Given the description of an element on the screen output the (x, y) to click on. 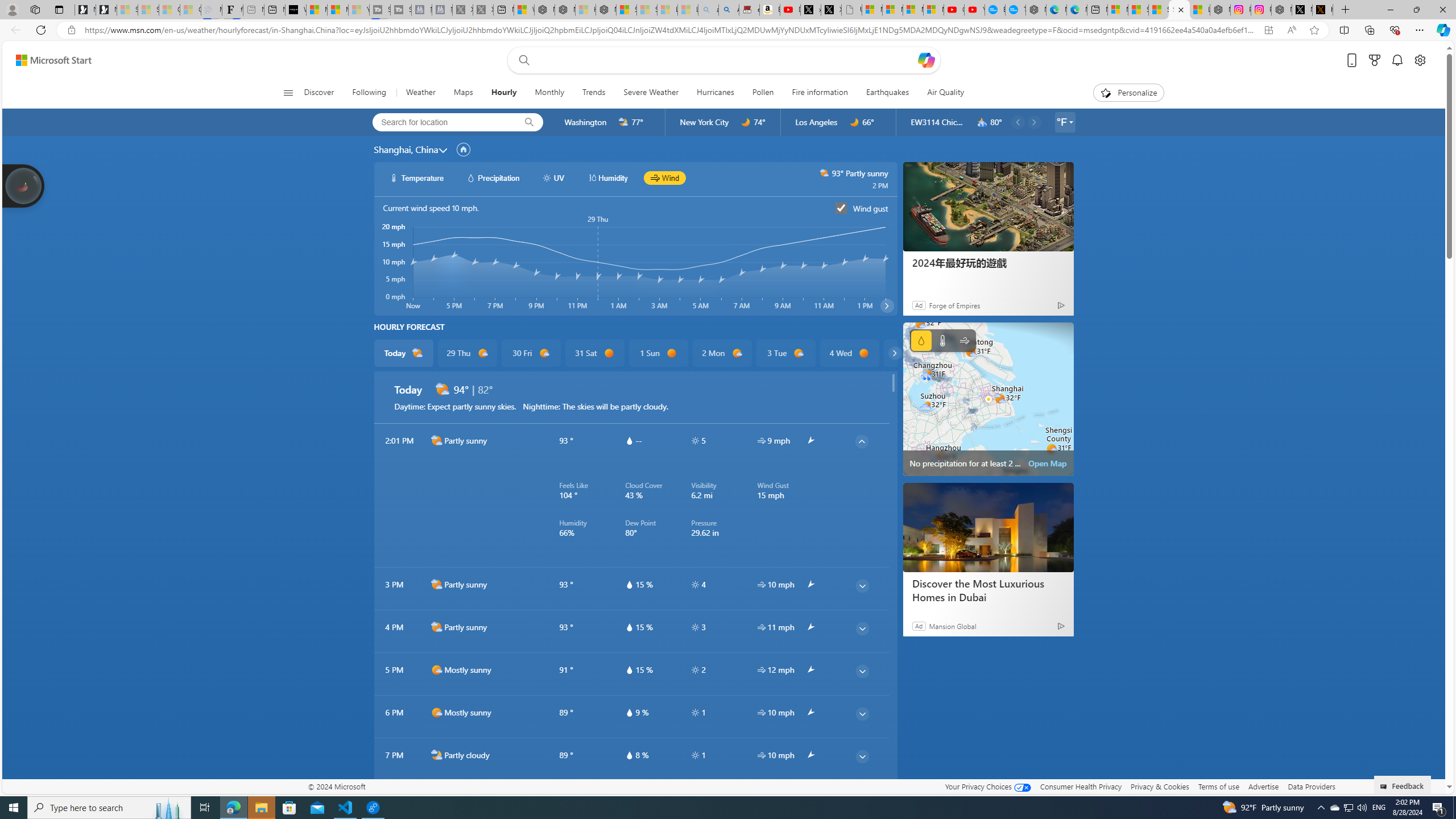
No precipitation for at least 2 hours (988, 398)
Web search (520, 60)
Hourly (503, 92)
Severe Weather (650, 92)
1 Sun d0000 (658, 352)
hourlyChart/temperatureWhite Temperature (416, 178)
Monthly (549, 92)
3 Tue d1000 (785, 352)
Advertise (1263, 785)
